Given the description of an element on the screen output the (x, y) to click on. 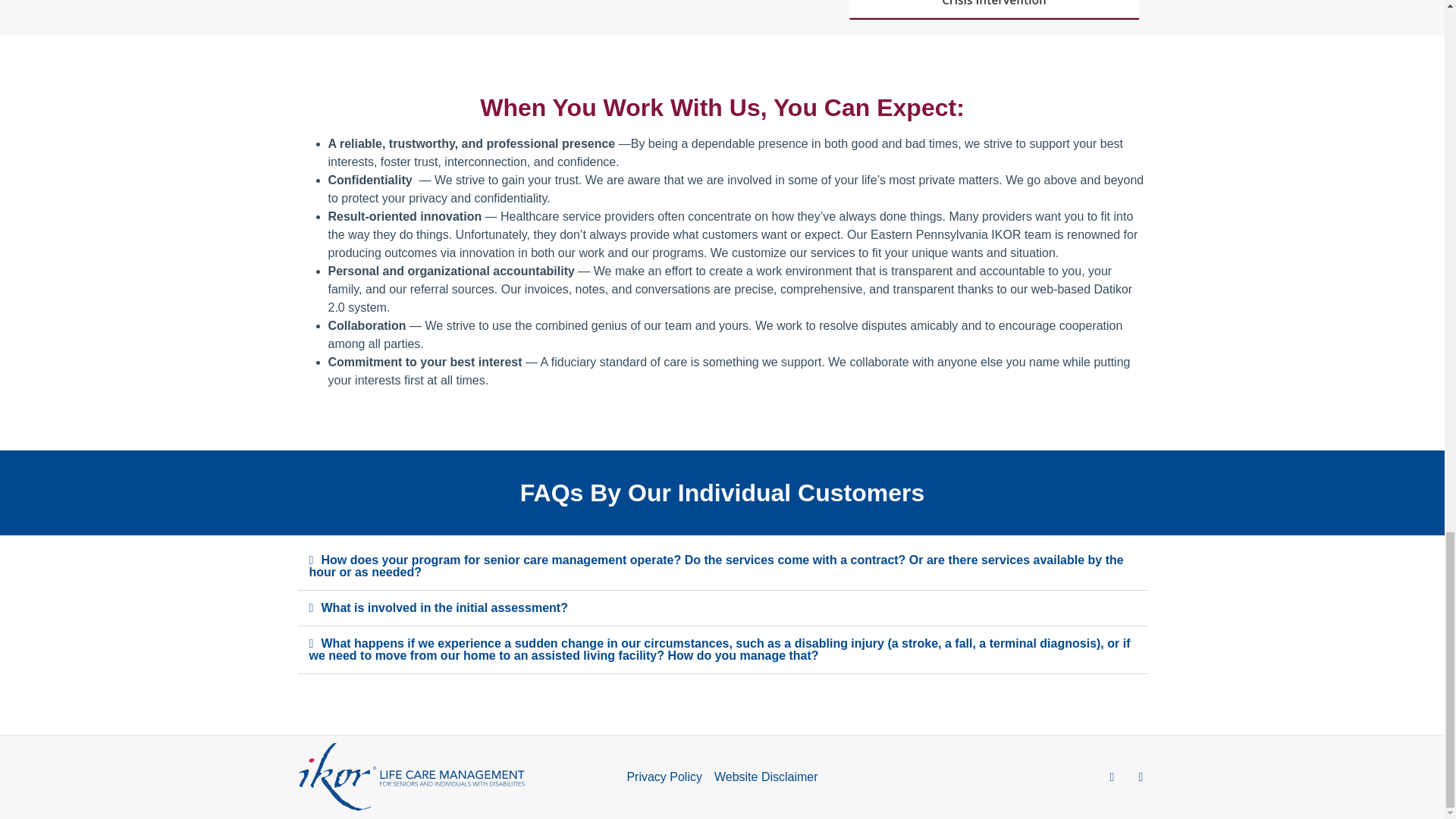
Privacy Policy (663, 777)
What is involved in the initial assessment? (444, 607)
Website Disclaimer (766, 777)
